Given the description of an element on the screen output the (x, y) to click on. 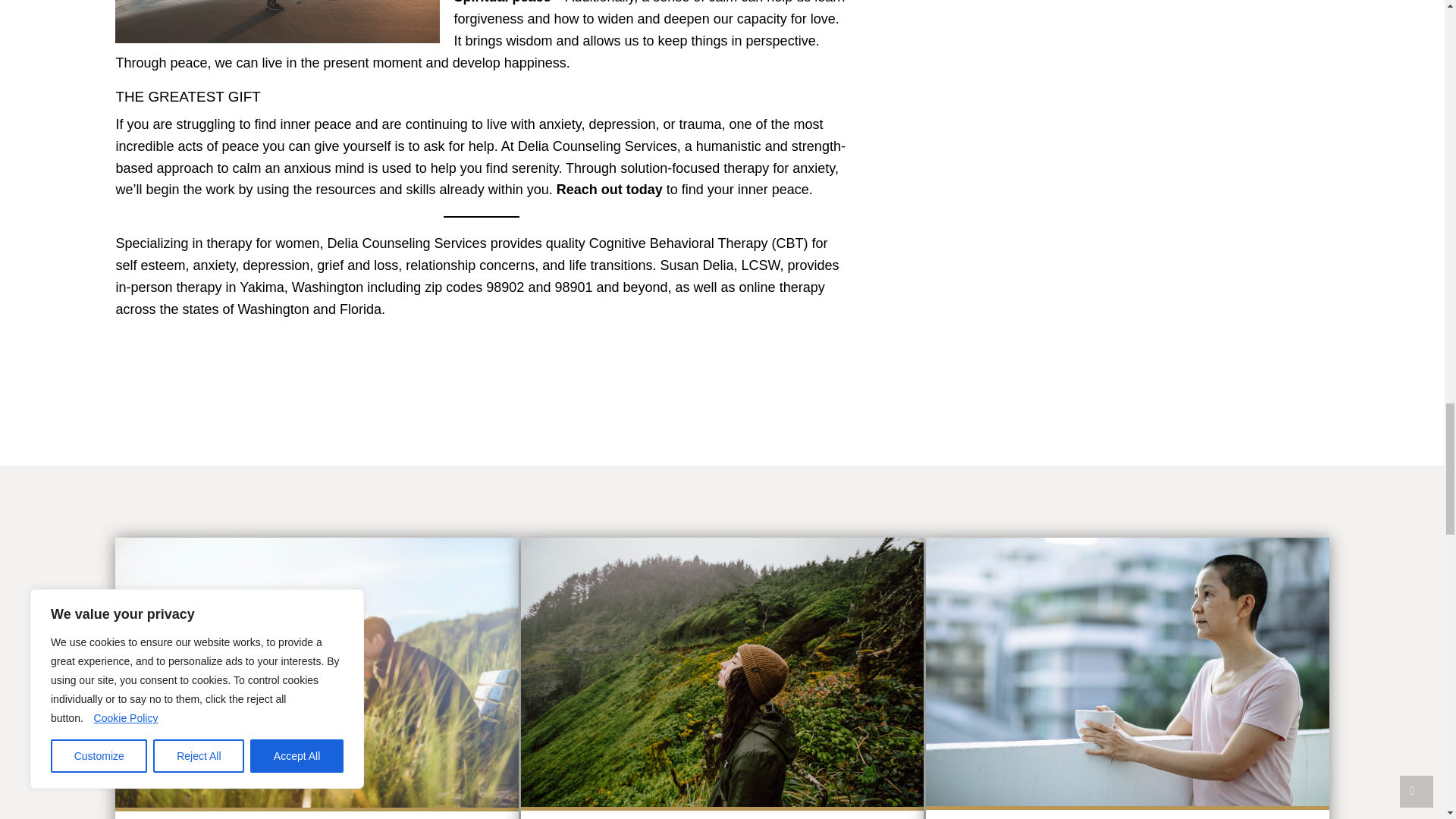
How to Harness Hope When Healing (1126, 678)
pexels-michelle-leman-6798887 (1126, 671)
Screen-Shot-2022-10-03-at-5.17.33-PM (316, 672)
pexels-josh-hild-12331085 (722, 671)
